Given the description of an element on the screen output the (x, y) to click on. 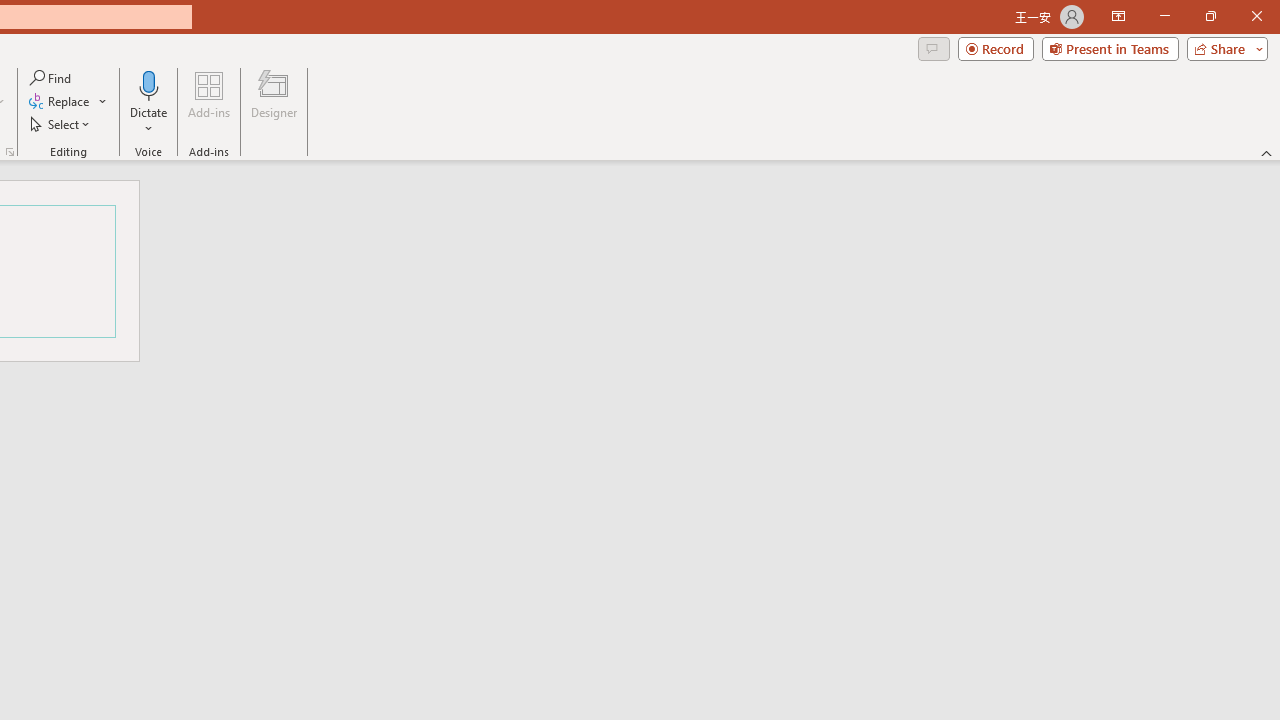
Replace... (68, 101)
Restore Down (1210, 16)
Dictate (149, 84)
Ribbon Display Options (1118, 16)
Dictate (149, 102)
Share (1223, 48)
Find... (51, 78)
Format Object... (9, 151)
Record (995, 48)
Comments (933, 48)
Replace... (60, 101)
Close (1256, 16)
Minimize (1164, 16)
